Given the description of an element on the screen output the (x, y) to click on. 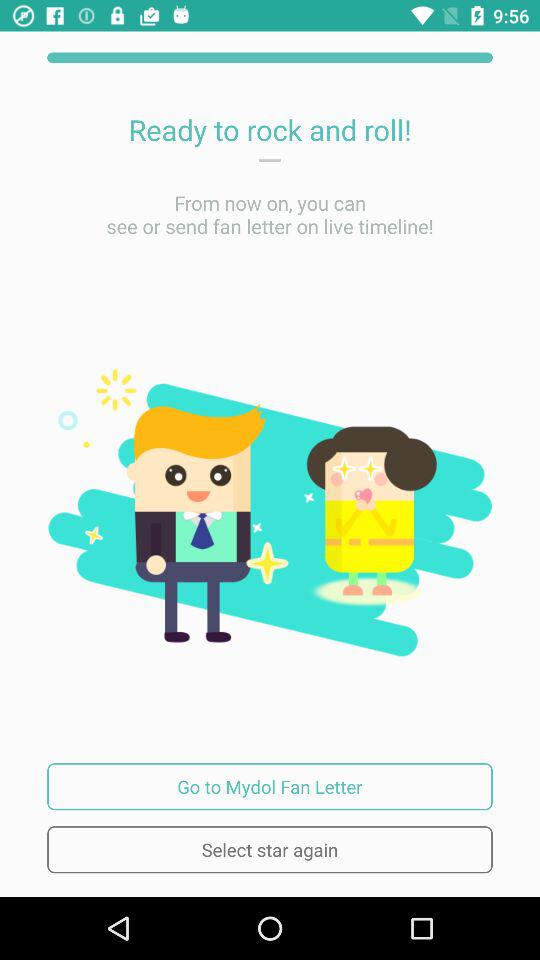
turn off icon above the select star again item (269, 786)
